Given the description of an element on the screen output the (x, y) to click on. 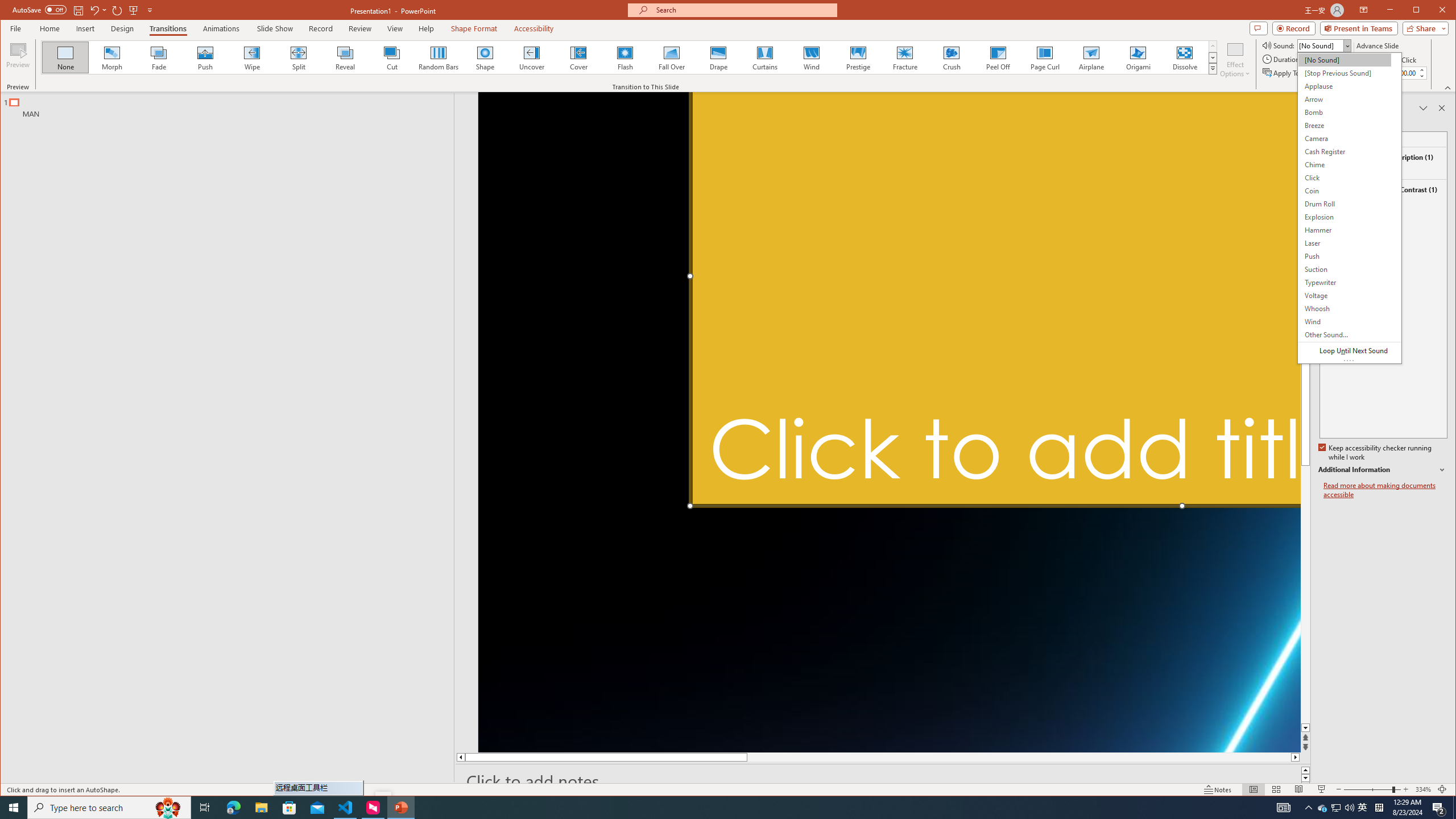
Curtains (764, 57)
Peel Off (998, 57)
Zoom Out (1367, 789)
Undo (98, 9)
Quick Access Toolbar (83, 9)
AutomationID: AnimationTransitionGallery (629, 57)
Running applications (700, 807)
Slide Notes (882, 780)
Airplane (1091, 57)
PowerPoint - 1 running window (400, 807)
Slide Show (1321, 789)
Cover (577, 57)
More (1421, 69)
Accessibility (534, 28)
